Given the description of an element on the screen output the (x, y) to click on. 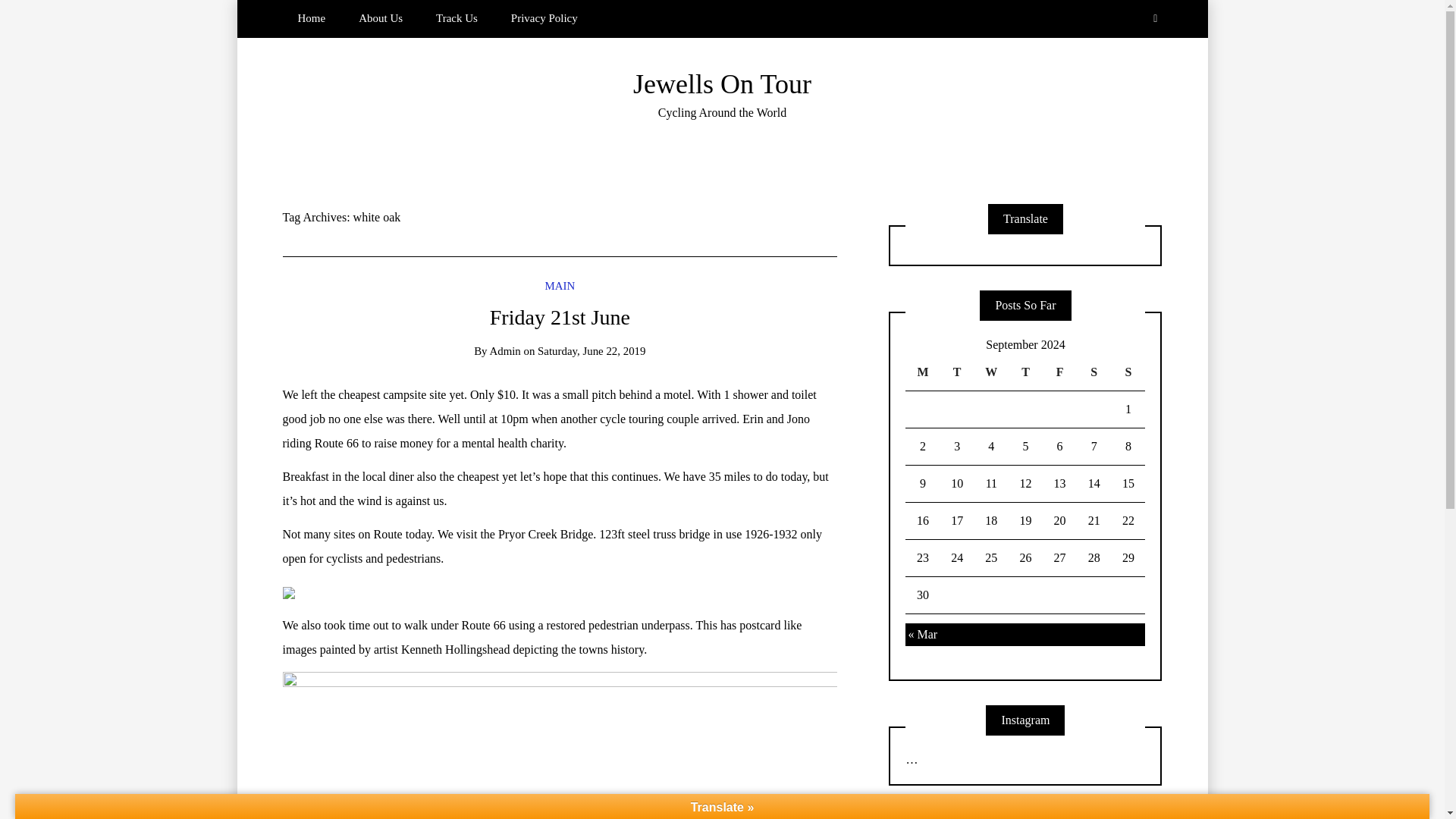
Track Us (456, 18)
Jewells On Tour (721, 83)
Friday (1059, 372)
Posts by admin (504, 350)
Saturday, June 22, 2019 (591, 350)
Monday (922, 372)
Home (311, 18)
Tuesday (957, 372)
Privacy Policy (544, 18)
Wednesday (991, 372)
